Given the description of an element on the screen output the (x, y) to click on. 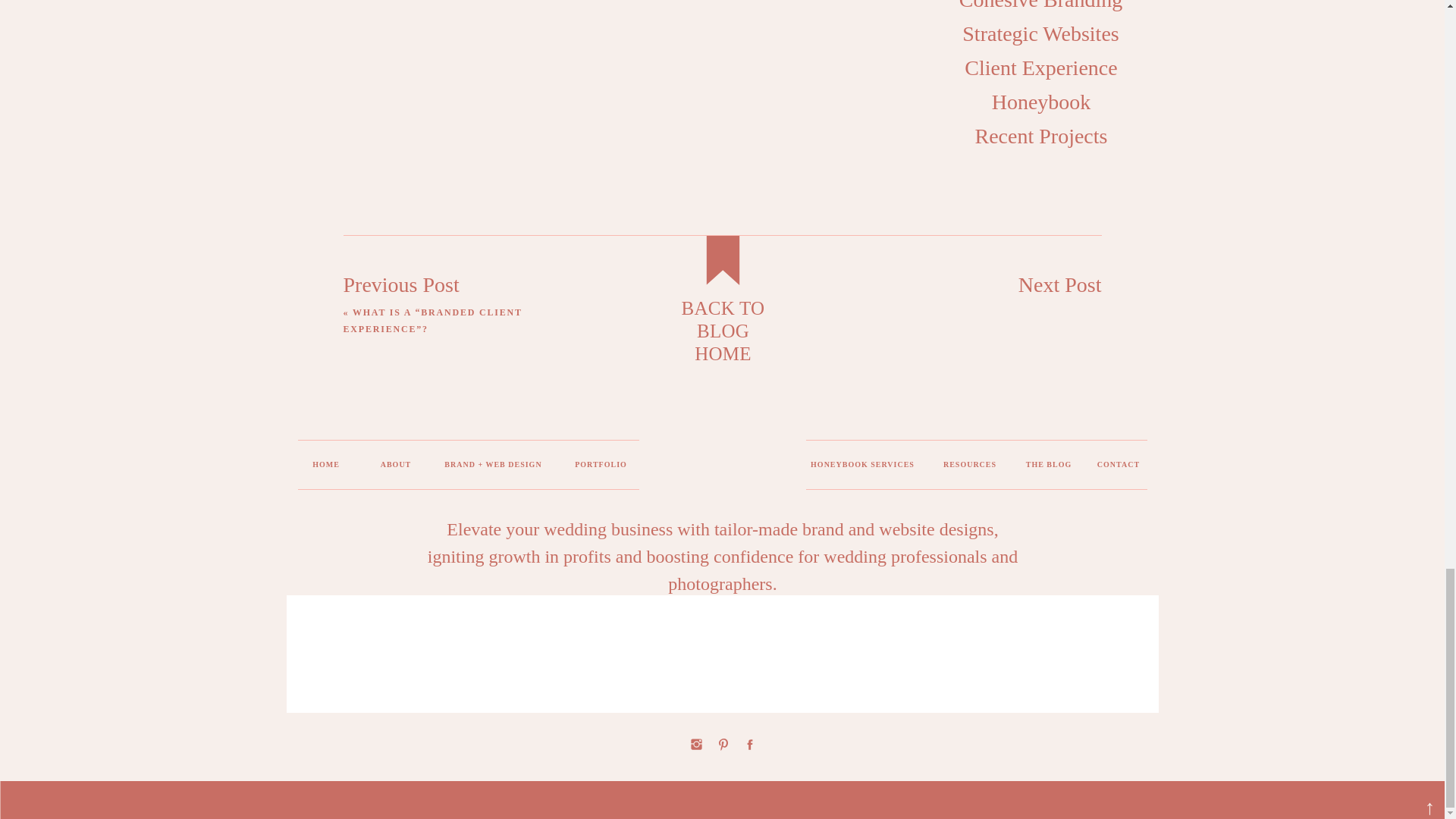
HONEYBOOK SERVICES (861, 466)
CONTACT (1118, 466)
THE BLOG (1048, 466)
Recent Projects (1040, 132)
Client Experience (1040, 64)
ABOUT (394, 466)
Honeybook (1041, 97)
RESOURCES (970, 466)
Cohesive Branding (1040, 3)
HOME (325, 466)
Strategic Websites (1040, 29)
PORTFOLIO (600, 470)
BACK TO BLOG HOME (722, 321)
